Given the description of an element on the screen output the (x, y) to click on. 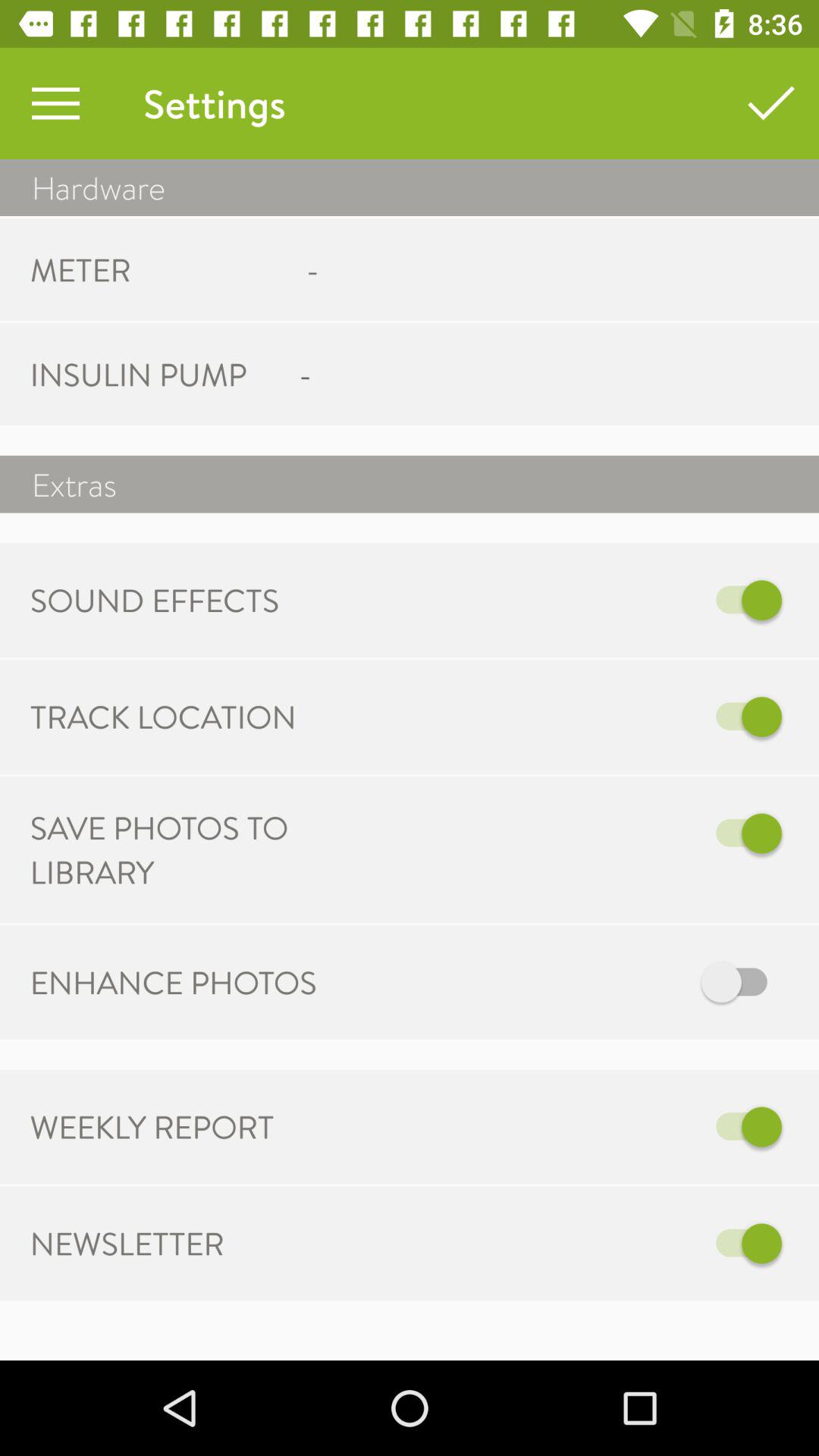
tap the item to the right of the save photos to item (566, 833)
